Given the description of an element on the screen output the (x, y) to click on. 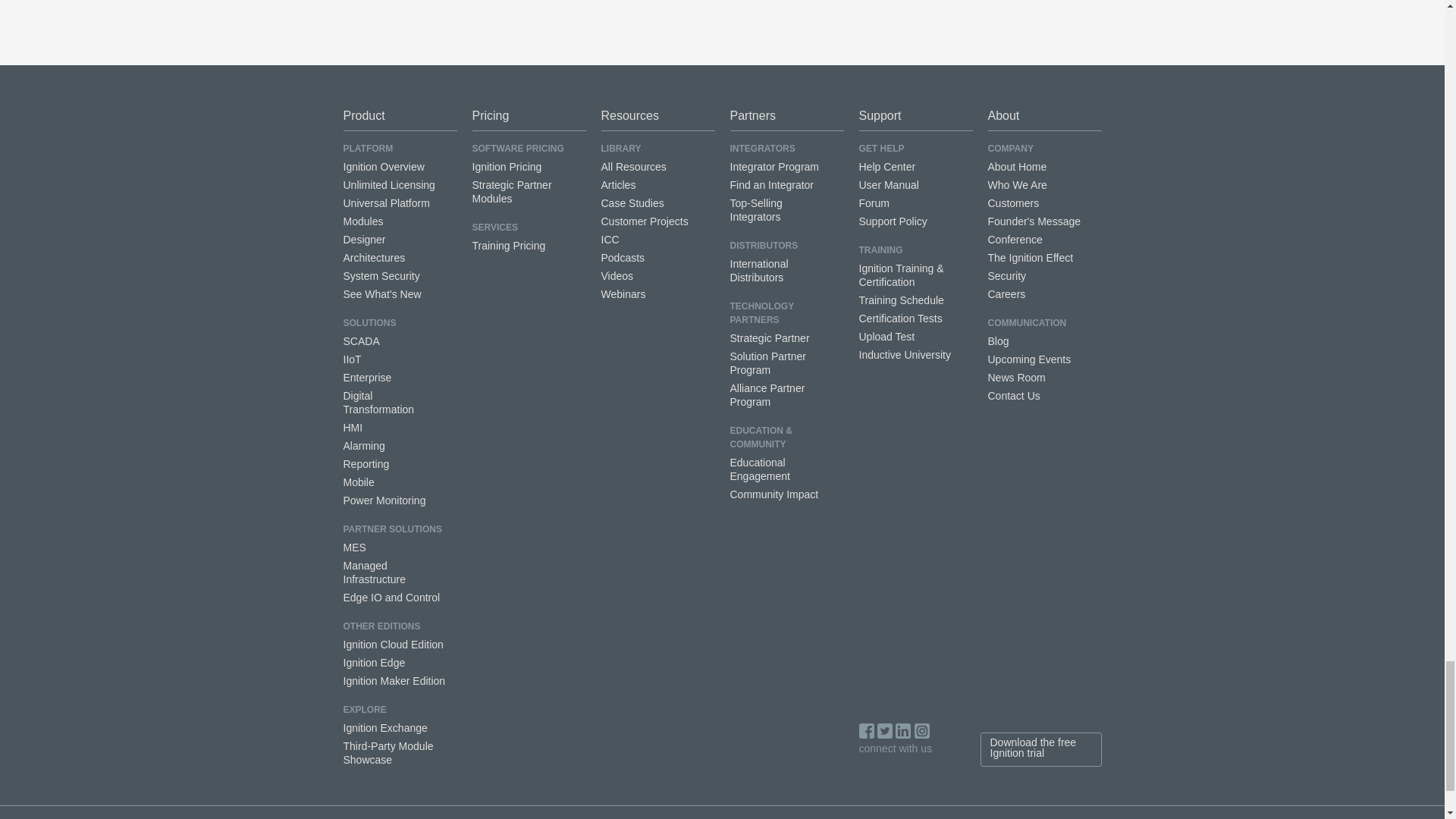
Linkedin (903, 731)
Twitter (884, 731)
Instagram (922, 731)
Facebook (866, 731)
